Given the description of an element on the screen output the (x, y) to click on. 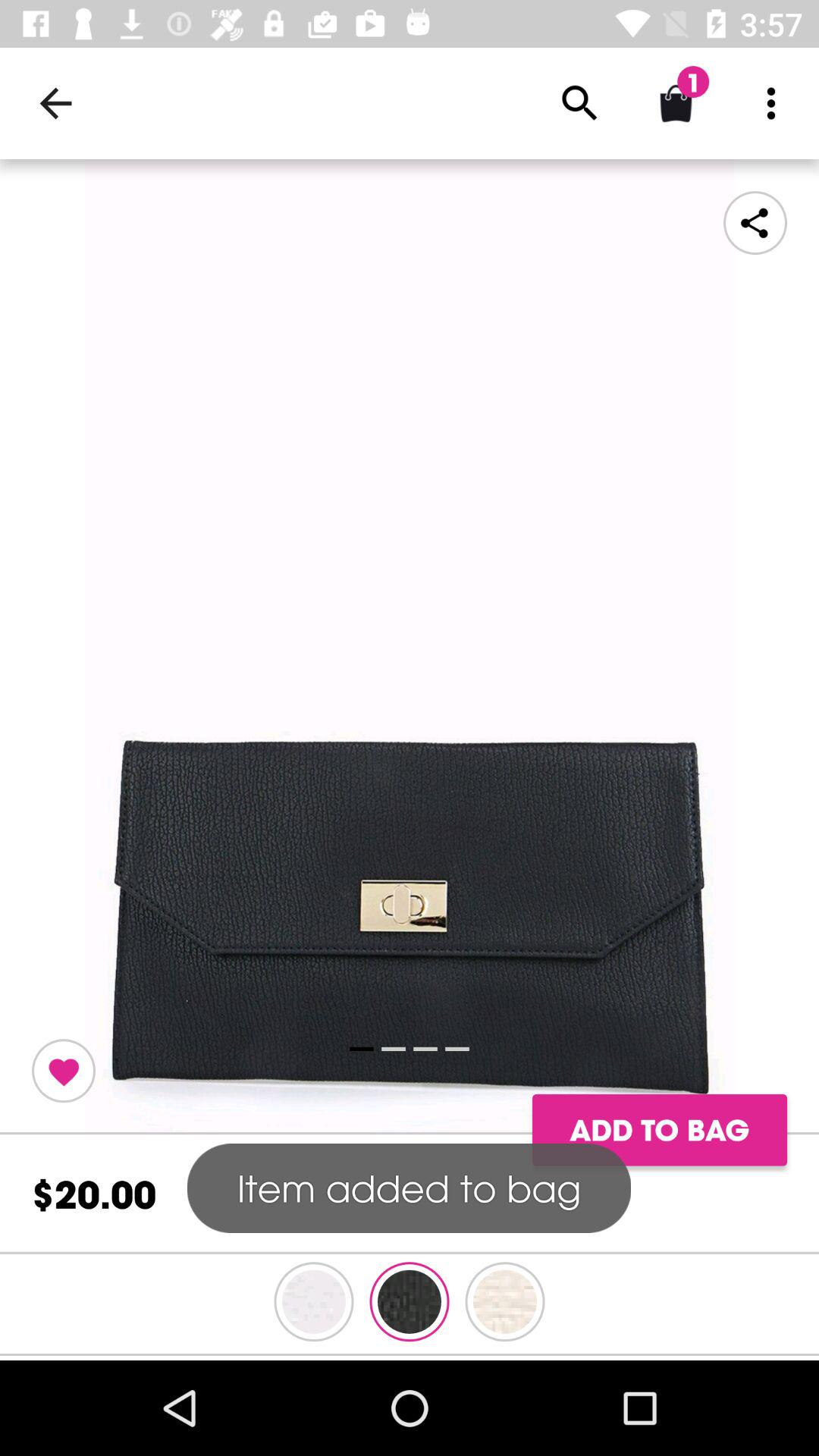
select screen botton (409, 646)
